Given the description of an element on the screen output the (x, y) to click on. 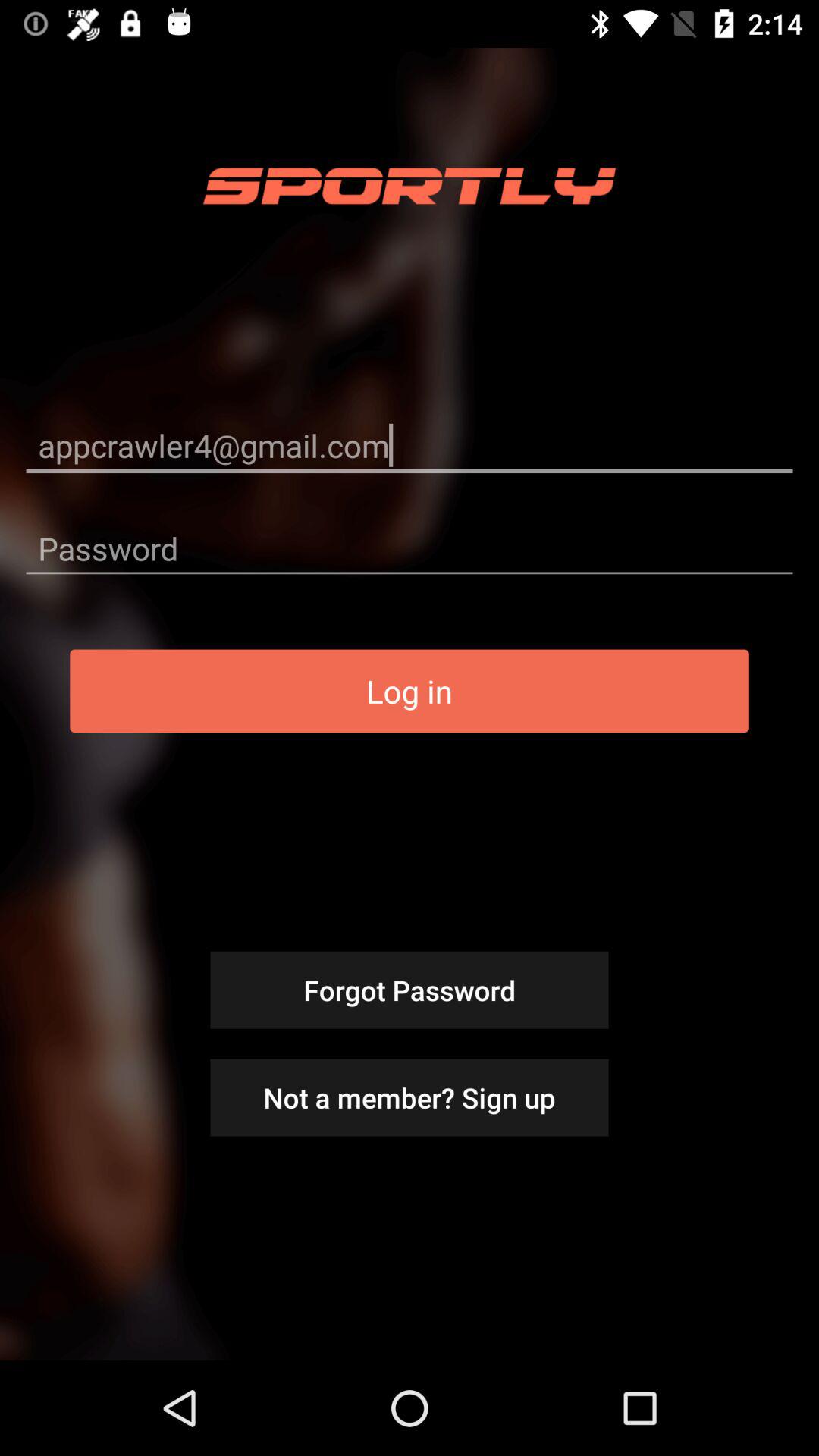
launch not a member item (409, 1097)
